Given the description of an element on the screen output the (x, y) to click on. 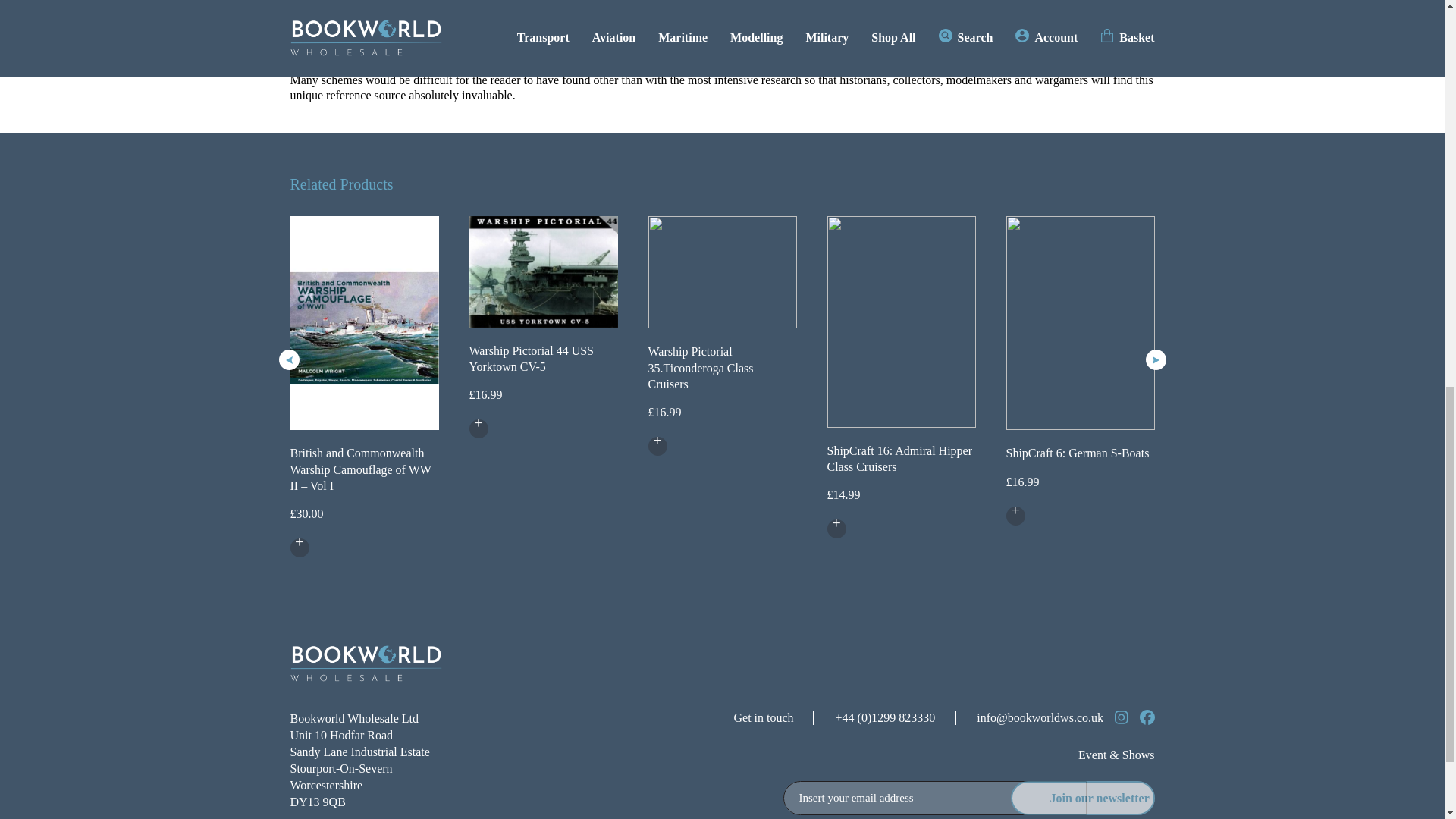
Join our newsletter (1082, 797)
